Given the description of an element on the screen output the (x, y) to click on. 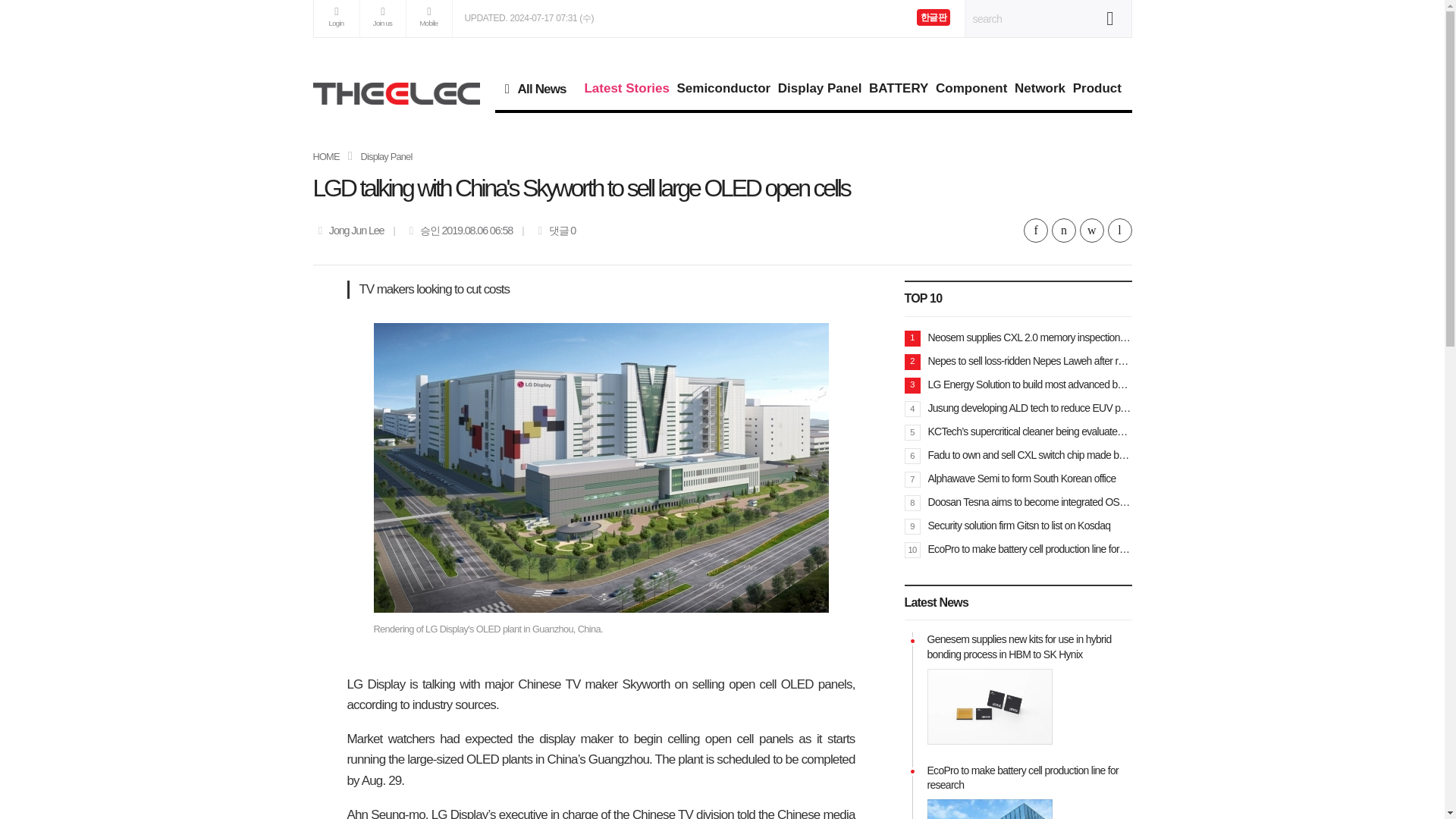
Mobile (428, 18)
HOME (326, 156)
Display Panel (386, 156)
 All News (539, 88)
Semiconductor (723, 88)
Join us (381, 18)
Network (1039, 88)
Product (1096, 88)
Latest Stories (626, 88)
Login (336, 18)
Display Panel (819, 88)
BATTERY (897, 88)
Component (970, 88)
